Given the description of an element on the screen output the (x, y) to click on. 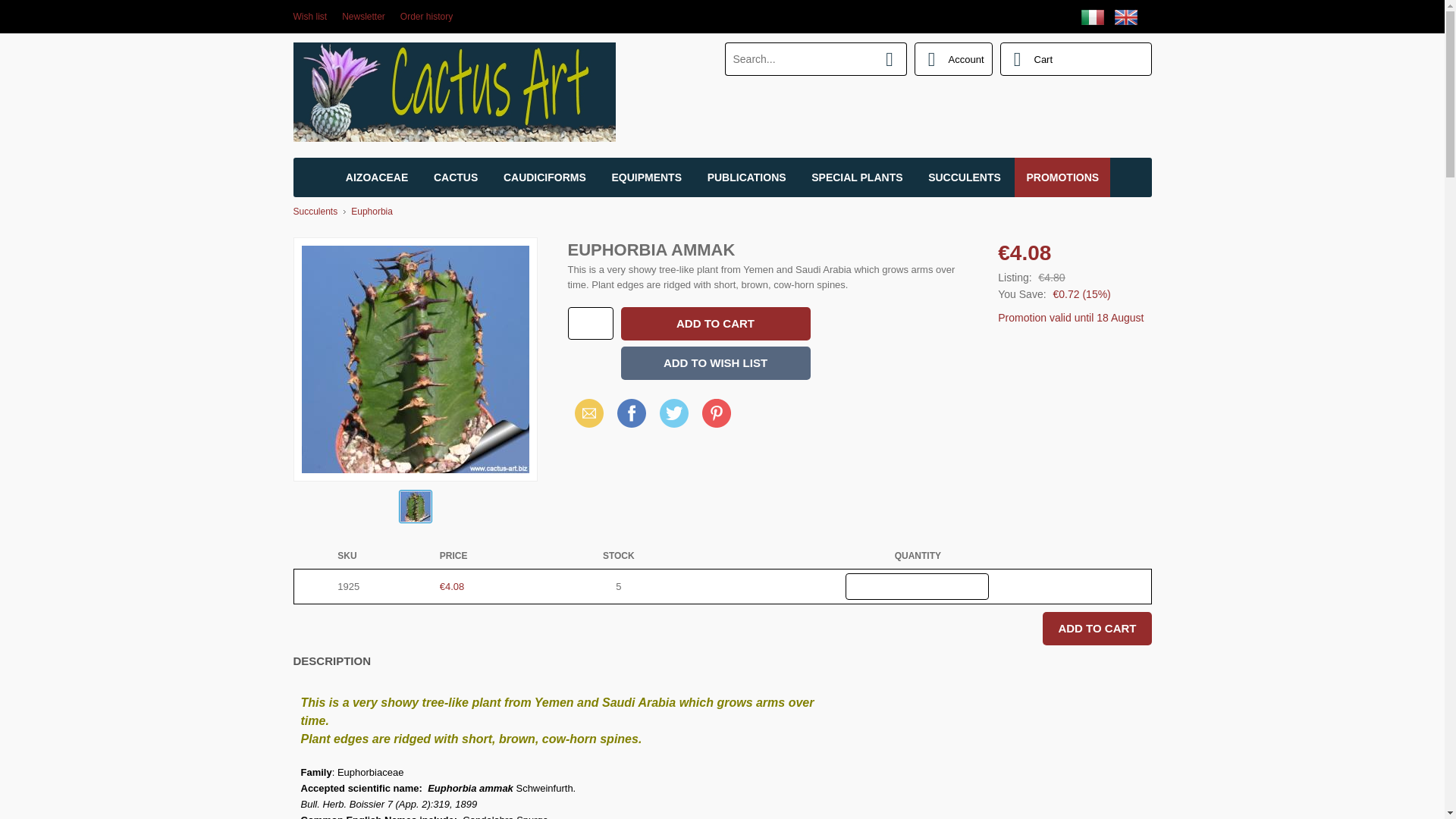
Send by email (588, 412)
Search (890, 59)
Add to wish list (714, 363)
Newsletter (363, 16)
Add to cart (1096, 628)
Search (890, 59)
Cart (1074, 59)
Account (953, 59)
Order history (426, 16)
AIZOACEAE (376, 177)
